Given the description of an element on the screen output the (x, y) to click on. 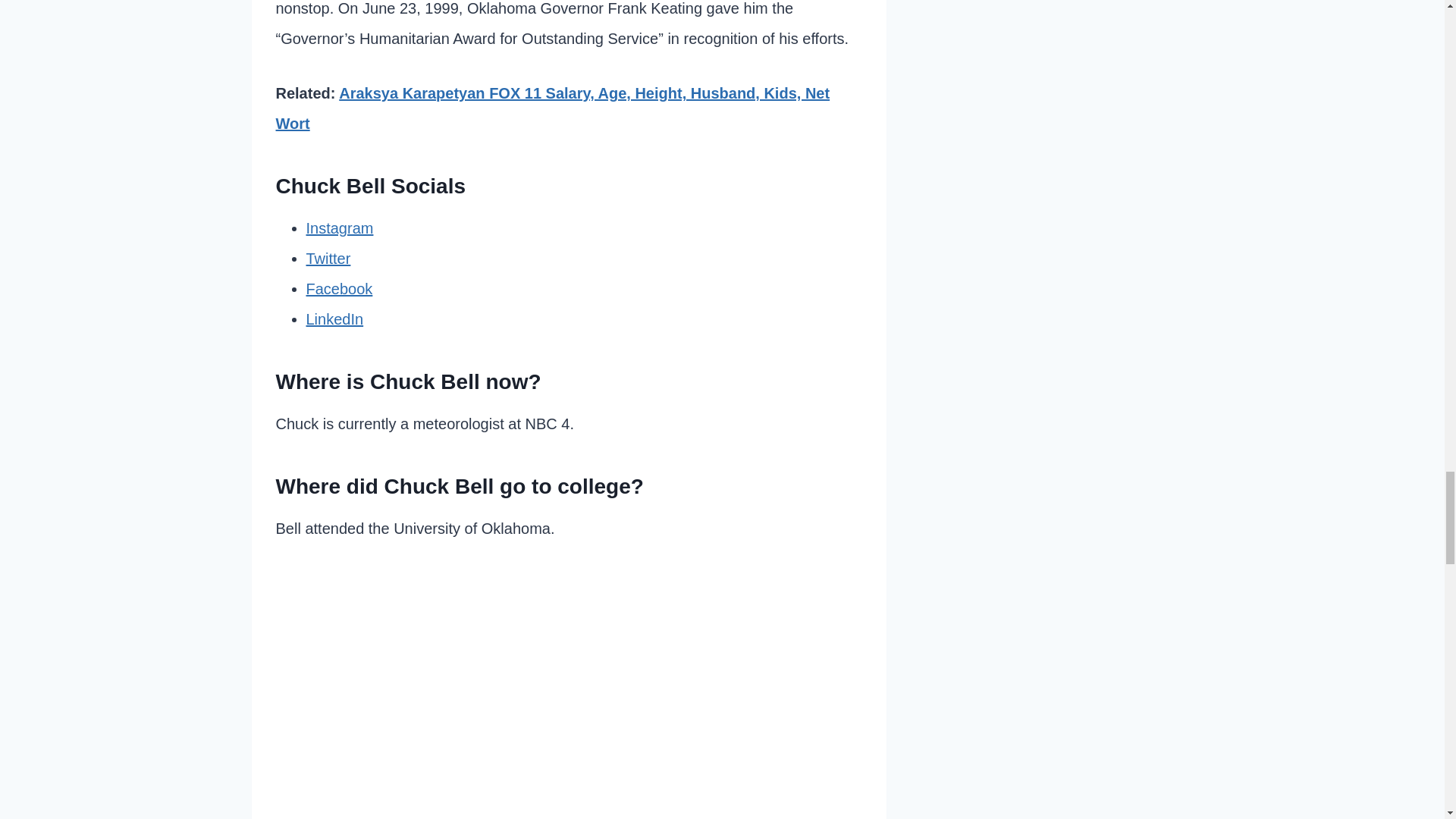
Facebook (338, 288)
Instagram (339, 228)
Twitter (327, 258)
LinkedIn (334, 319)
